Given the description of an element on the screen output the (x, y) to click on. 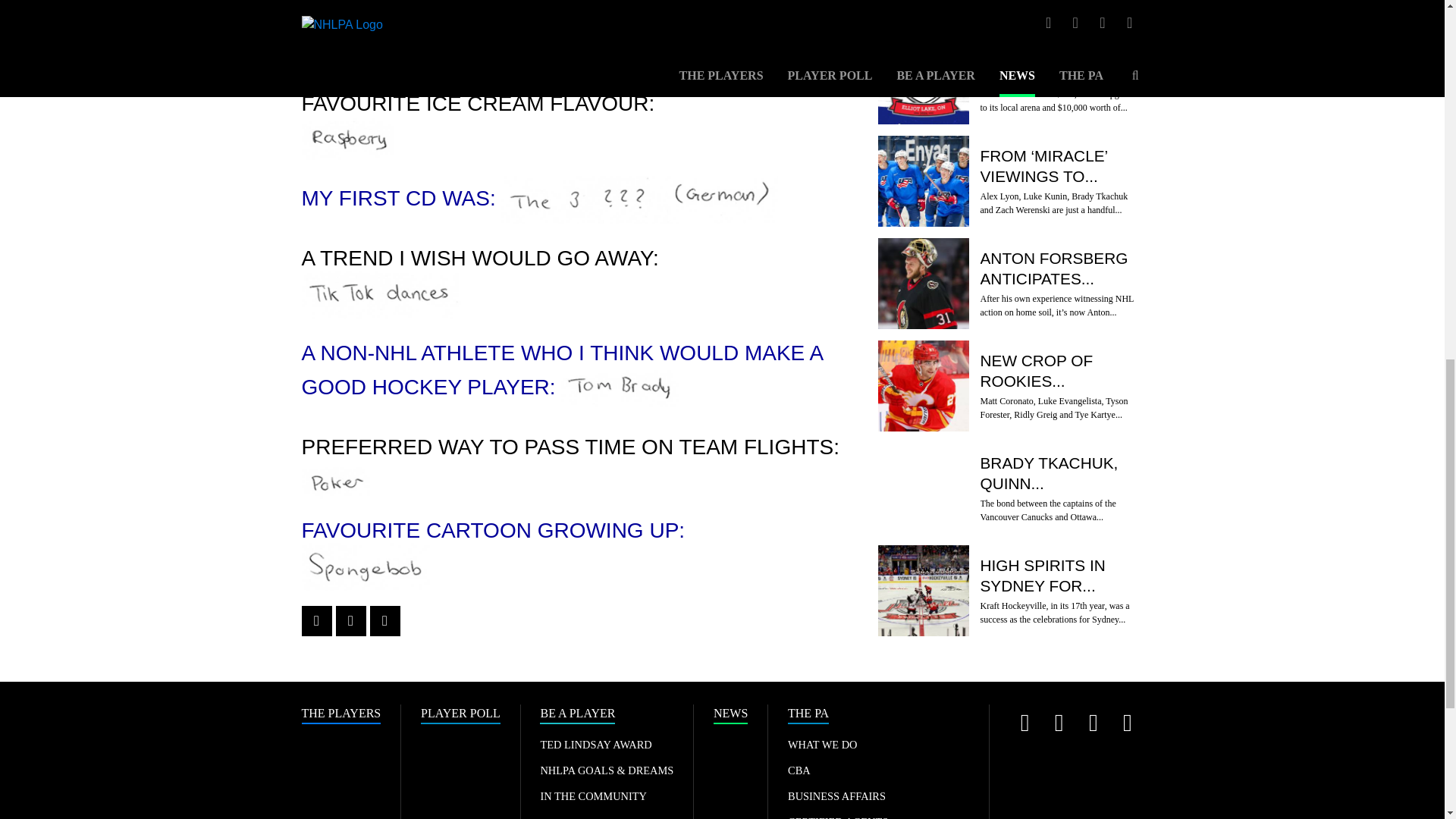
Twitter (1025, 722)
CBA (798, 770)
IN THE COMMUNITY (593, 796)
Share to LinkedIn (384, 621)
CERTIFIED AGENTS (837, 817)
Instagram (1058, 722)
THE PLAYERS (341, 713)
TED LINDSAY AWARD (595, 744)
Facebook (1127, 722)
YouTube (1092, 722)
BE A PLAYER (577, 713)
Share to Twitter (349, 621)
Share to Facebook (316, 621)
WHAT WE DO (822, 744)
BUSINESS AFFAIRS (836, 796)
